Given the description of an element on the screen output the (x, y) to click on. 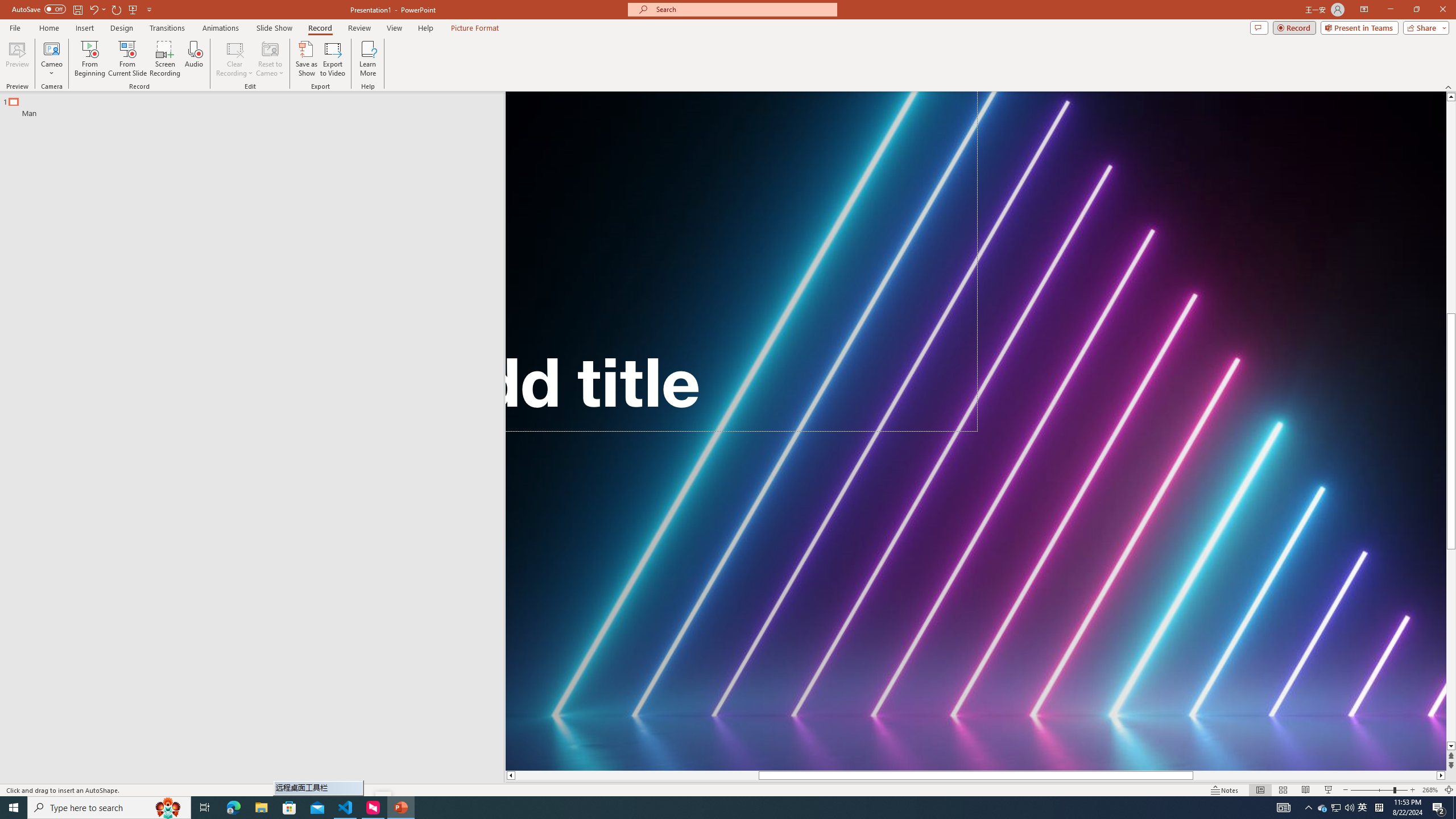
More Options (51, 68)
Zoom Out (1372, 790)
